Given the description of an element on the screen output the (x, y) to click on. 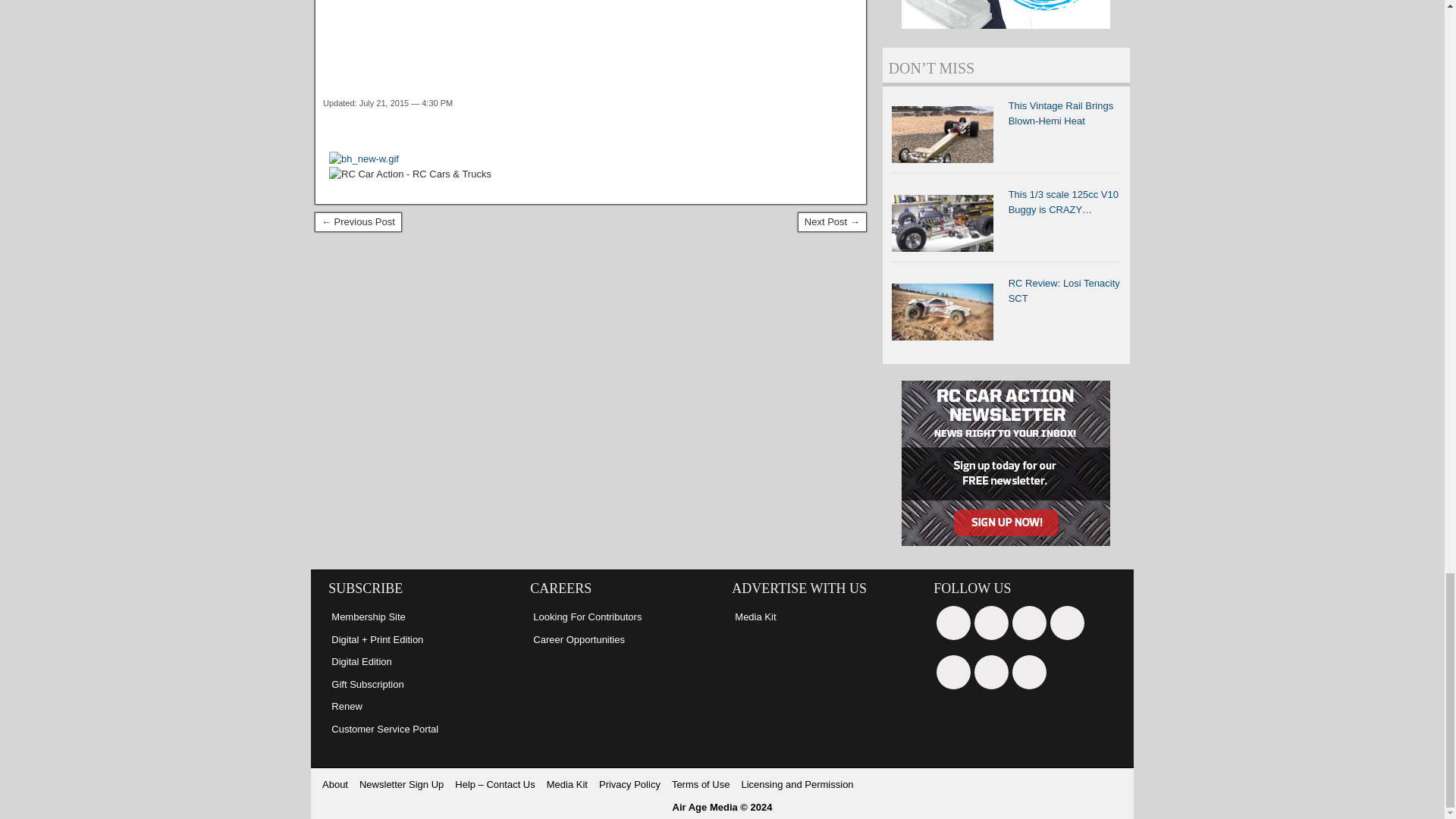
3rd party ad content (594, 25)
